Given the description of an element on the screen output the (x, y) to click on. 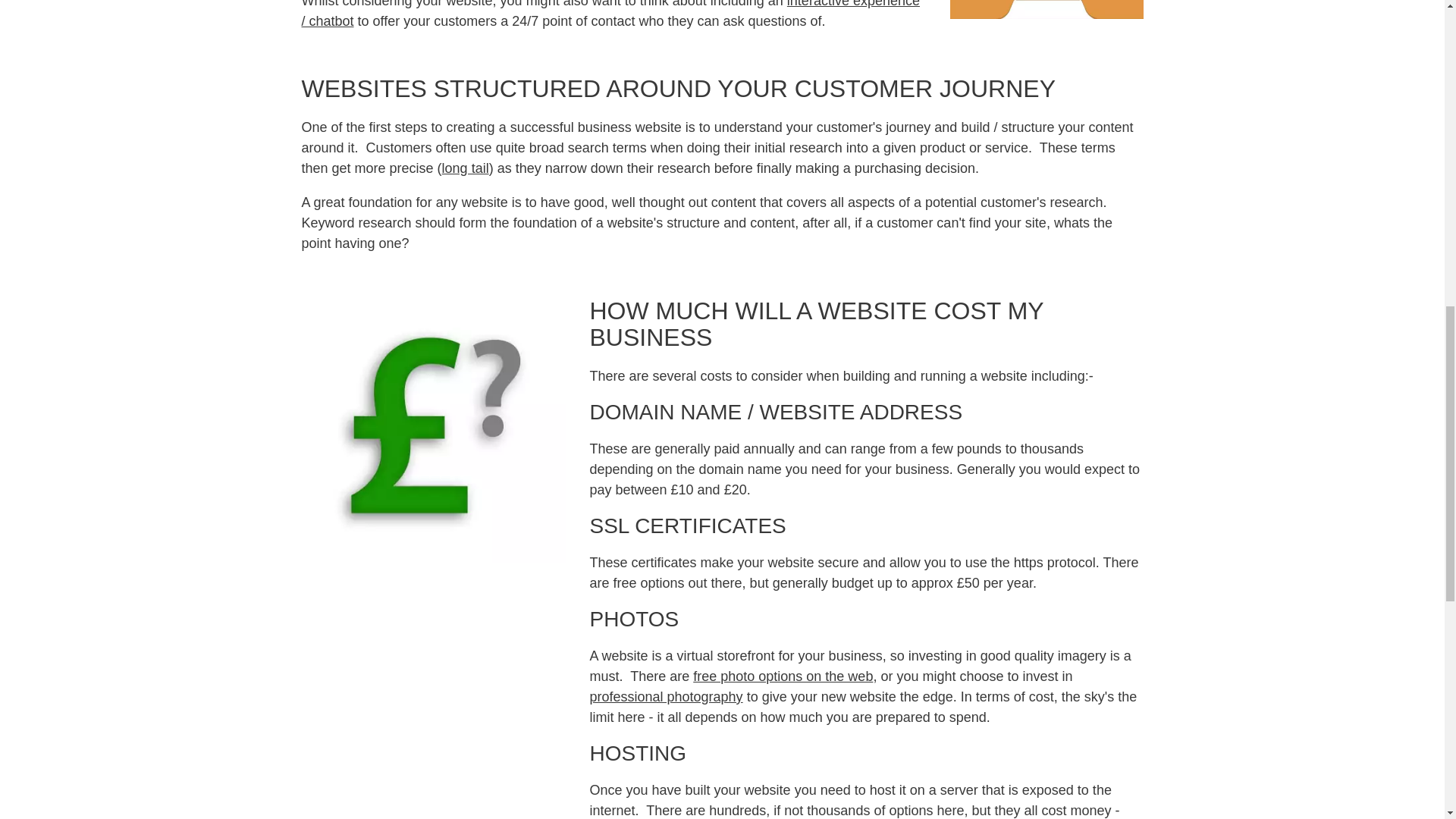
free photo options on the web (782, 676)
professional photography (665, 696)
long tail (465, 168)
